Given the description of an element on the screen output the (x, y) to click on. 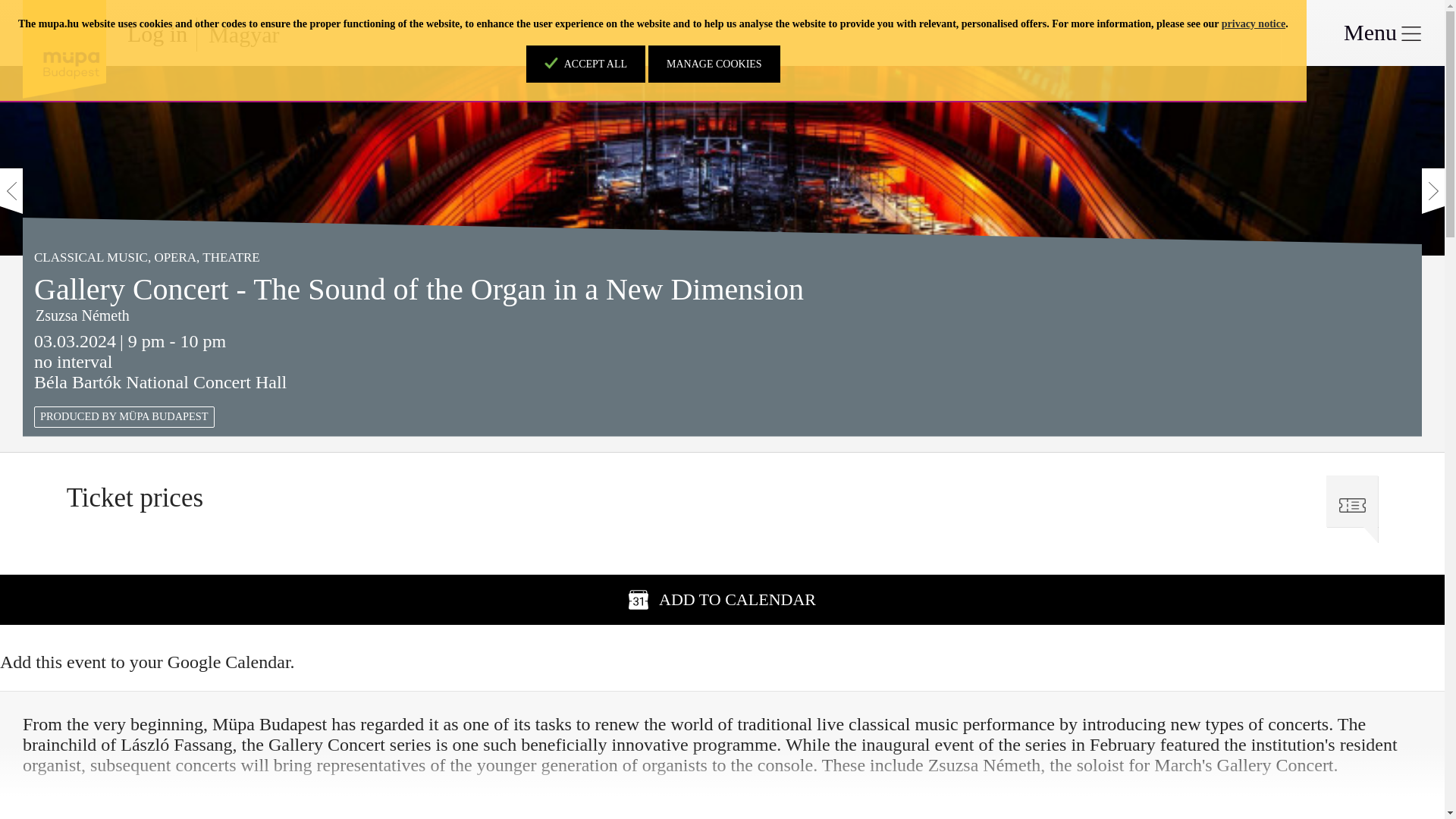
Log in (157, 33)
privacy notice (1253, 23)
ACCEPT ALL (585, 63)
Magyar (243, 34)
MANAGE COOKIES (713, 63)
